Given the description of an element on the screen output the (x, y) to click on. 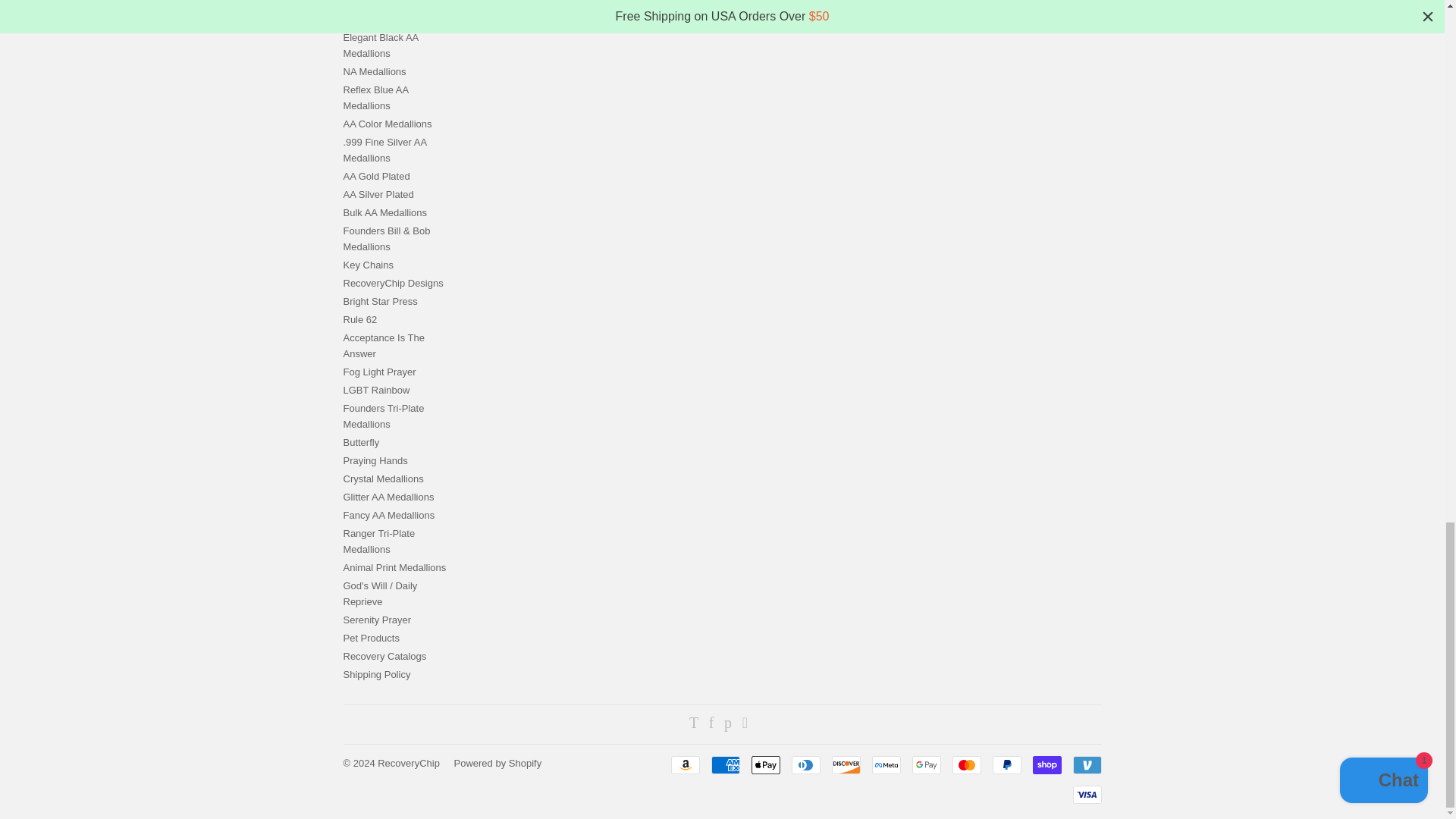
Meta Pay (886, 764)
Discover (845, 764)
Shop Pay (1046, 764)
Apple Pay (764, 764)
Visa (1085, 794)
Amazon (683, 764)
Google Pay (925, 764)
Mastercard (966, 764)
Venmo (1085, 764)
American Express (725, 764)
Diners Club (806, 764)
PayPal (1005, 764)
